Given the description of an element on the screen output the (x, y) to click on. 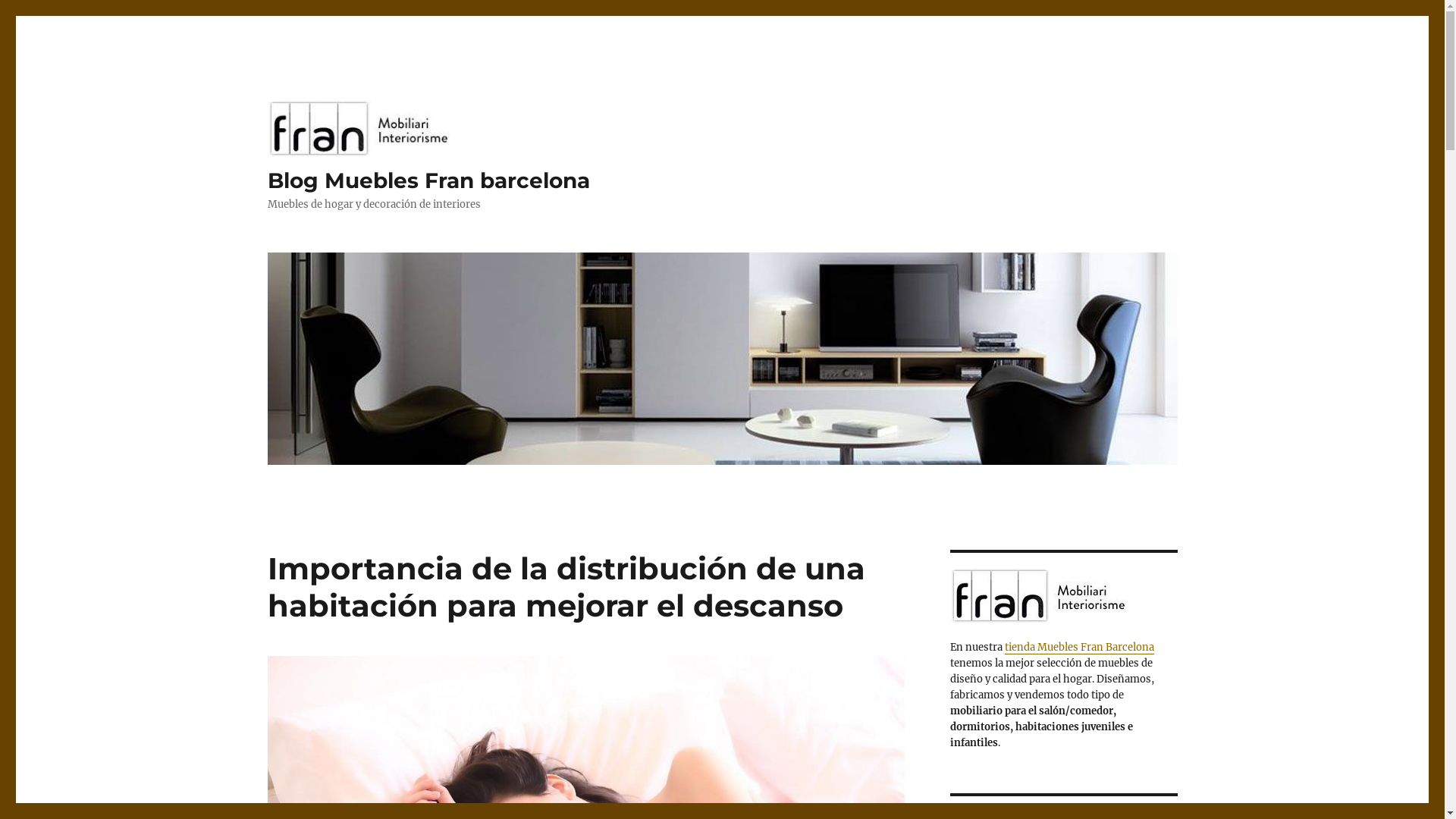
Blog Muebles Fran barcelona Element type: text (427, 180)
tienda Muebles Fran Barcelona Element type: text (1078, 646)
